Given the description of an element on the screen output the (x, y) to click on. 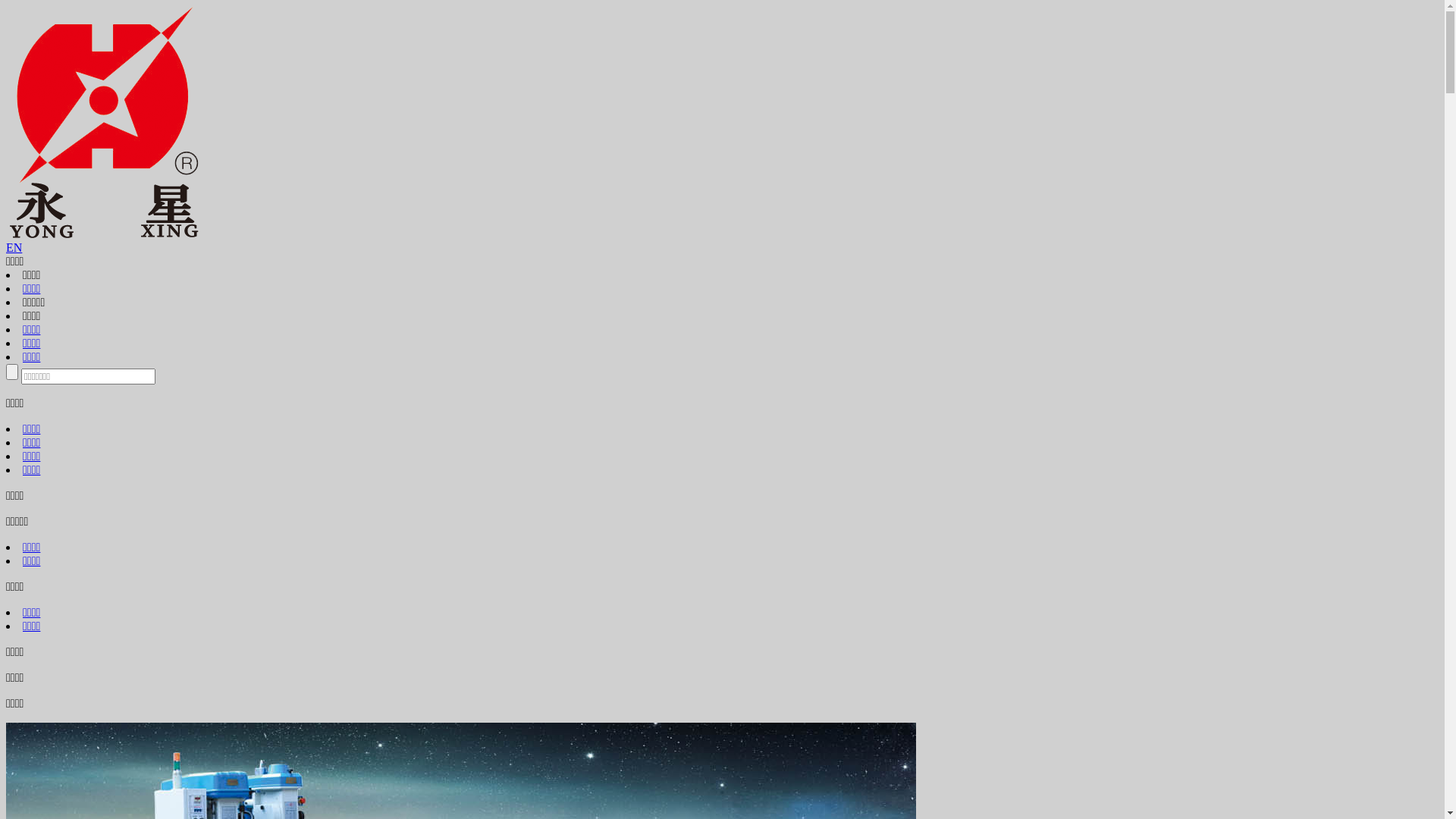
EN Element type: text (13, 247)
